Given the description of an element on the screen output the (x, y) to click on. 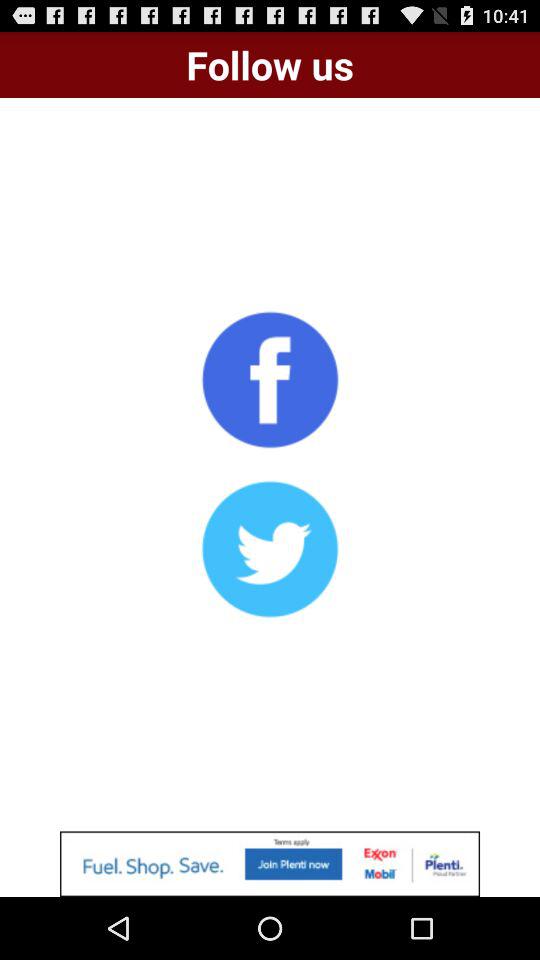
open facebook (270, 379)
